Given the description of an element on the screen output the (x, y) to click on. 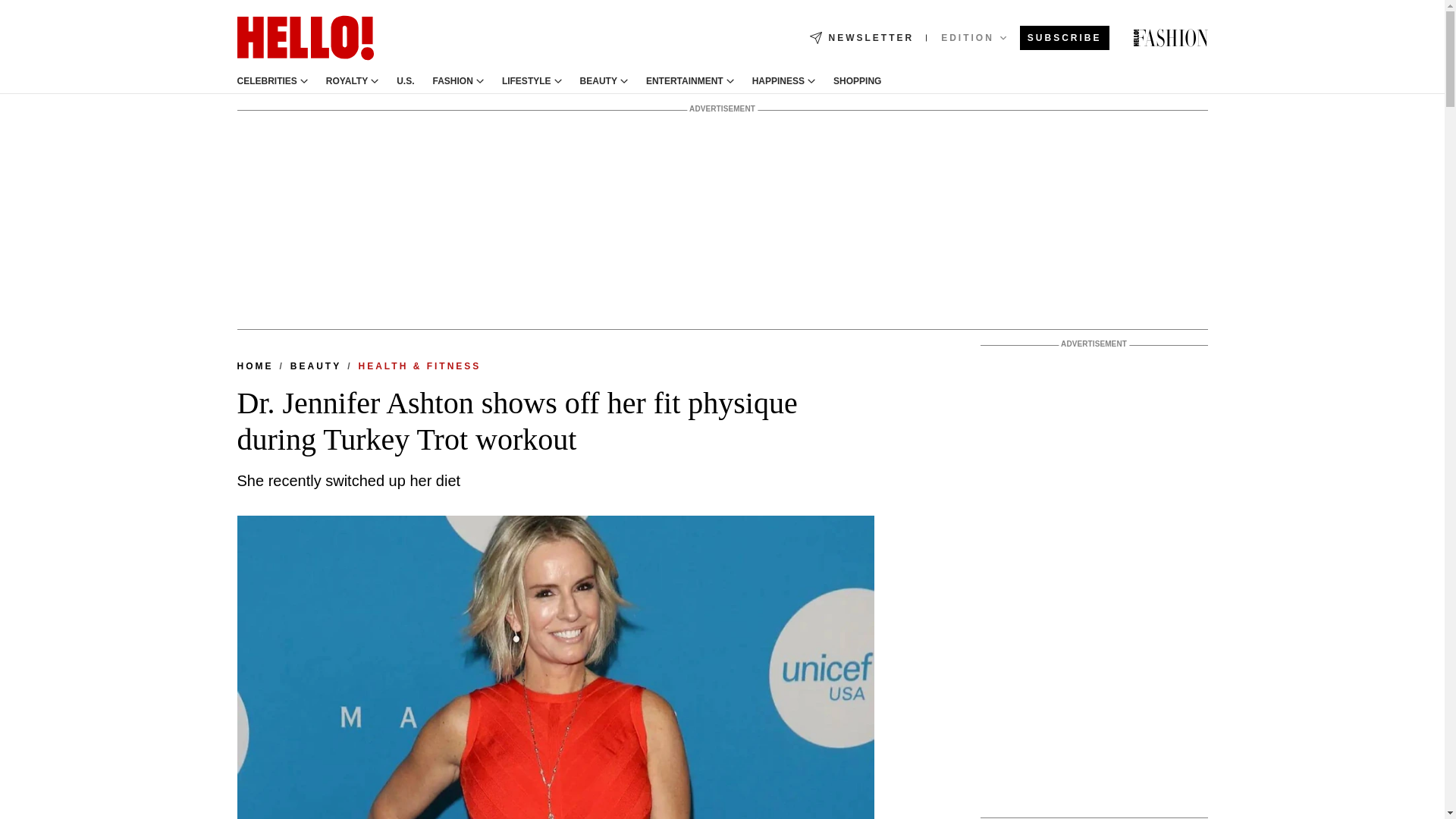
U.S. (404, 81)
ROYALTY (347, 81)
FASHION (452, 81)
CELEBRITIES (266, 81)
NEWSLETTER (861, 38)
BEAUTY (598, 81)
